Given the description of an element on the screen output the (x, y) to click on. 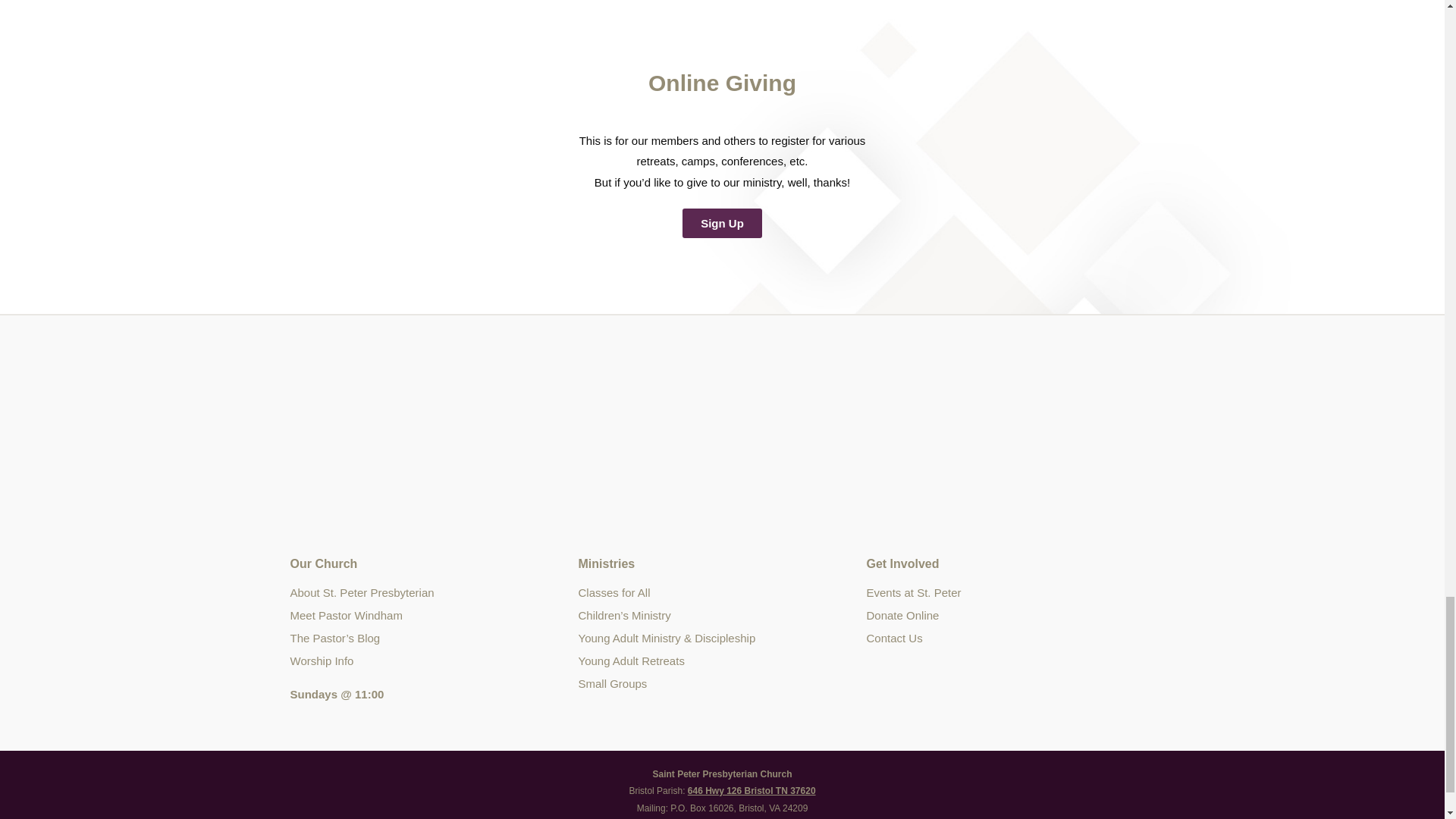
Worship Info (433, 661)
About St. Peter Presbyterian (433, 592)
Meet Pastor Windham (433, 615)
Sign Up (721, 223)
